Given the description of an element on the screen output the (x, y) to click on. 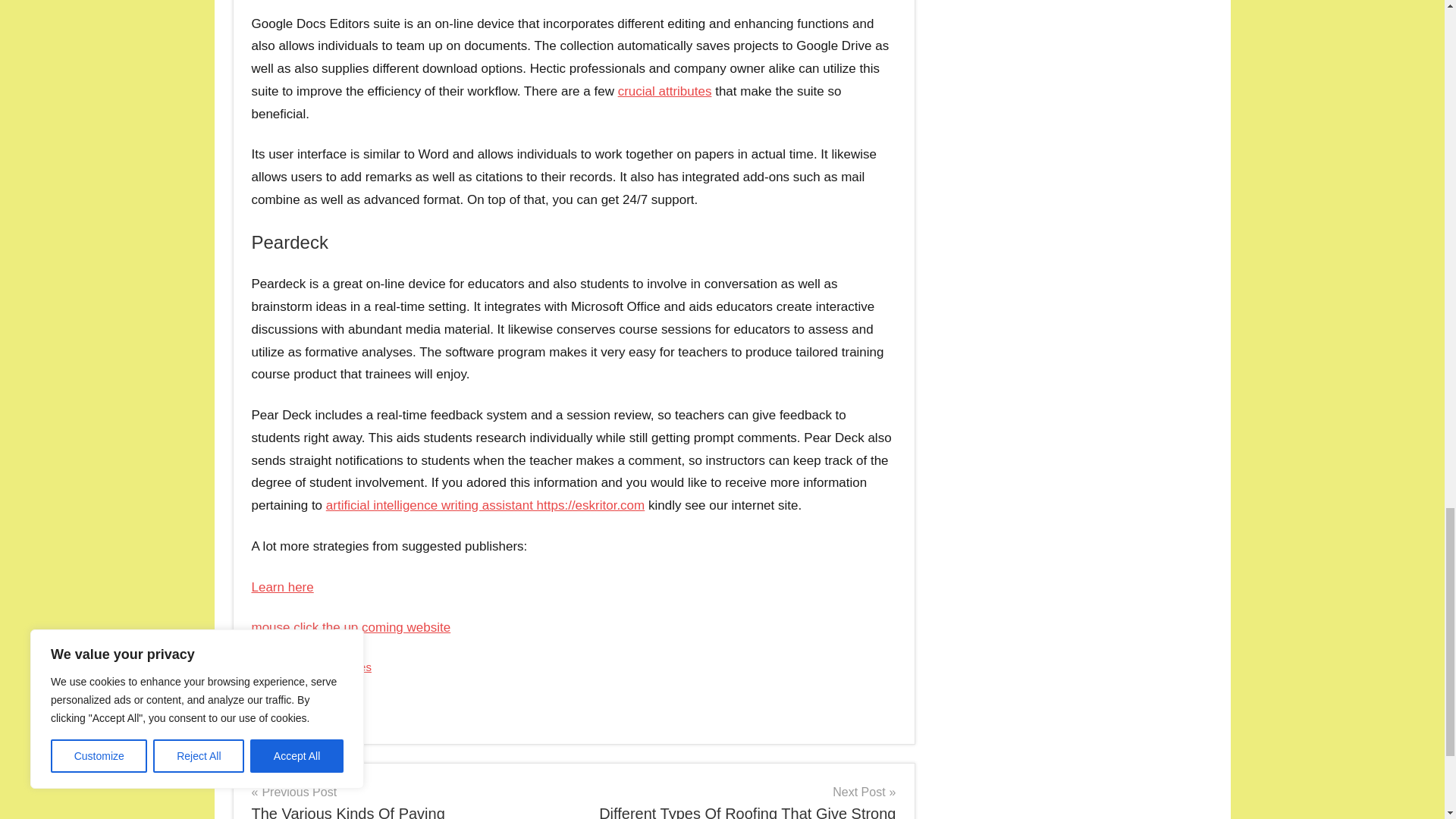
researches (343, 666)
mouse click the up coming website (351, 626)
Learn here (282, 586)
crucial attributes (664, 91)
General (281, 709)
